Given the description of an element on the screen output the (x, y) to click on. 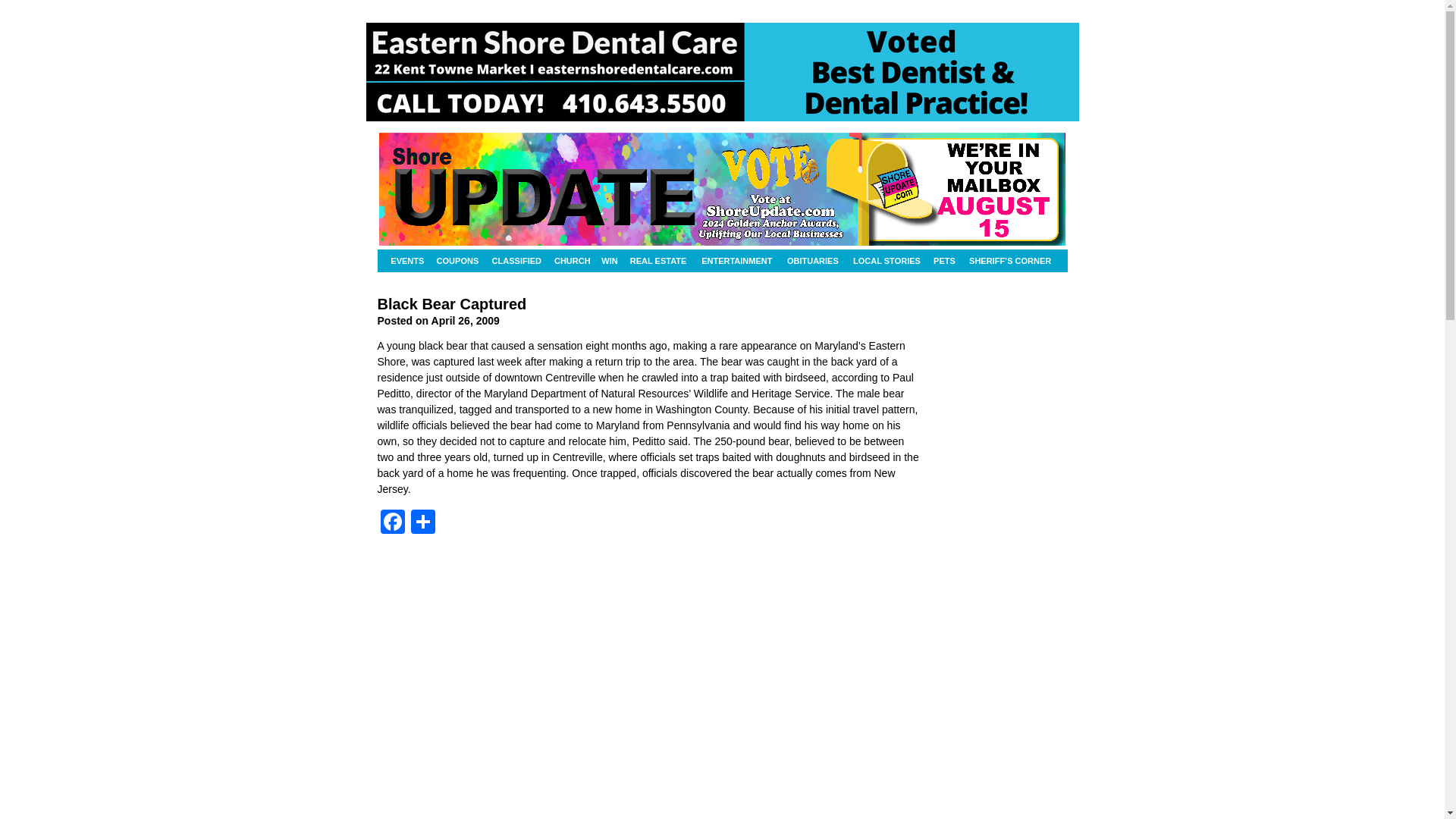
EVENTS (407, 260)
COUPONS (457, 260)
CLASSIFIED (516, 260)
Facebook (392, 523)
LOCAL STORIES (886, 260)
REAL ESTATE (657, 260)
ENTERTAINMENT (736, 260)
OBITUARIES (812, 260)
Facebook (392, 523)
PETS (943, 260)
